Given the description of an element on the screen output the (x, y) to click on. 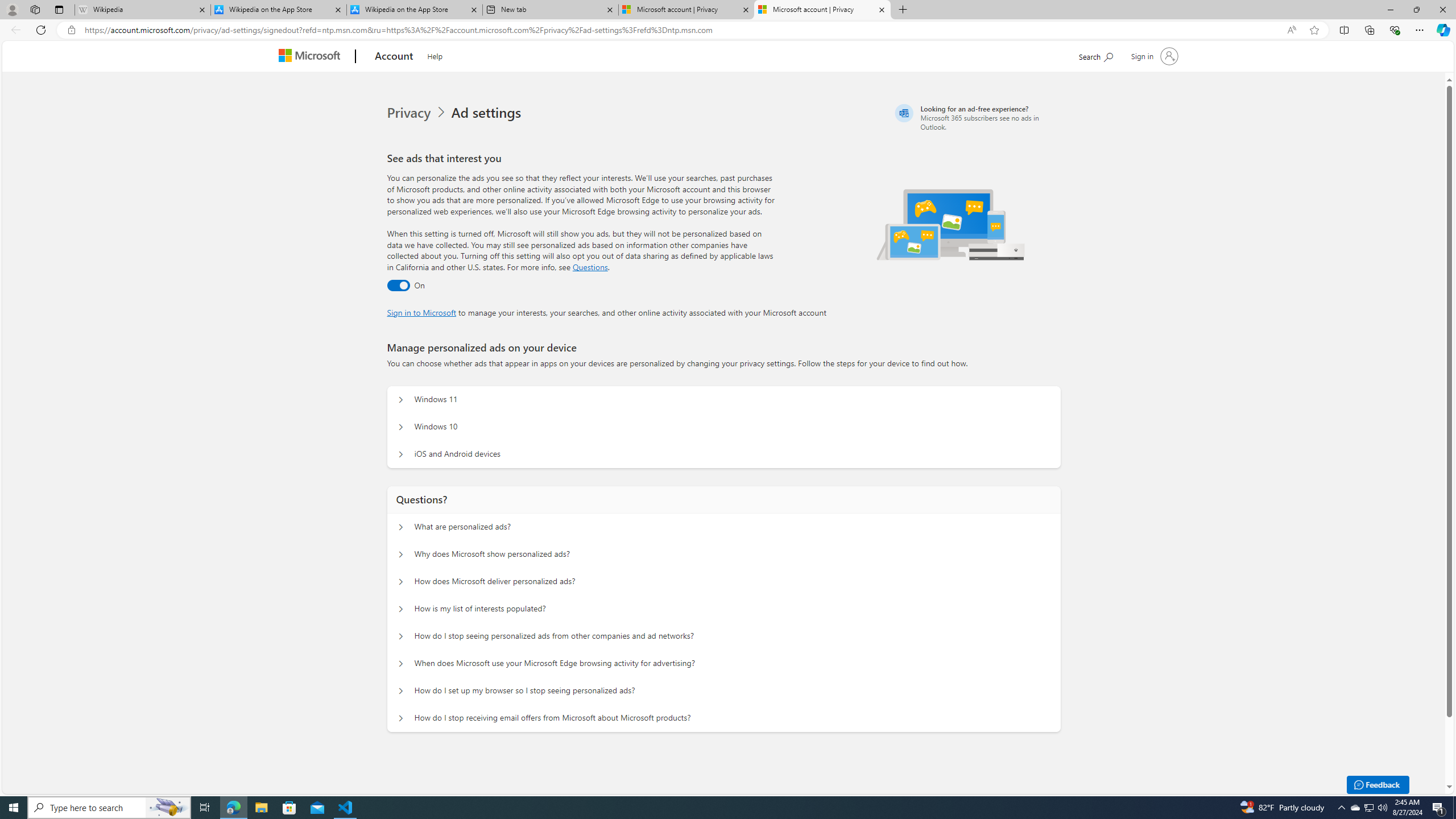
Help (435, 54)
Help (434, 54)
Sign in to Microsoft (422, 311)
